Given the description of an element on the screen output the (x, y) to click on. 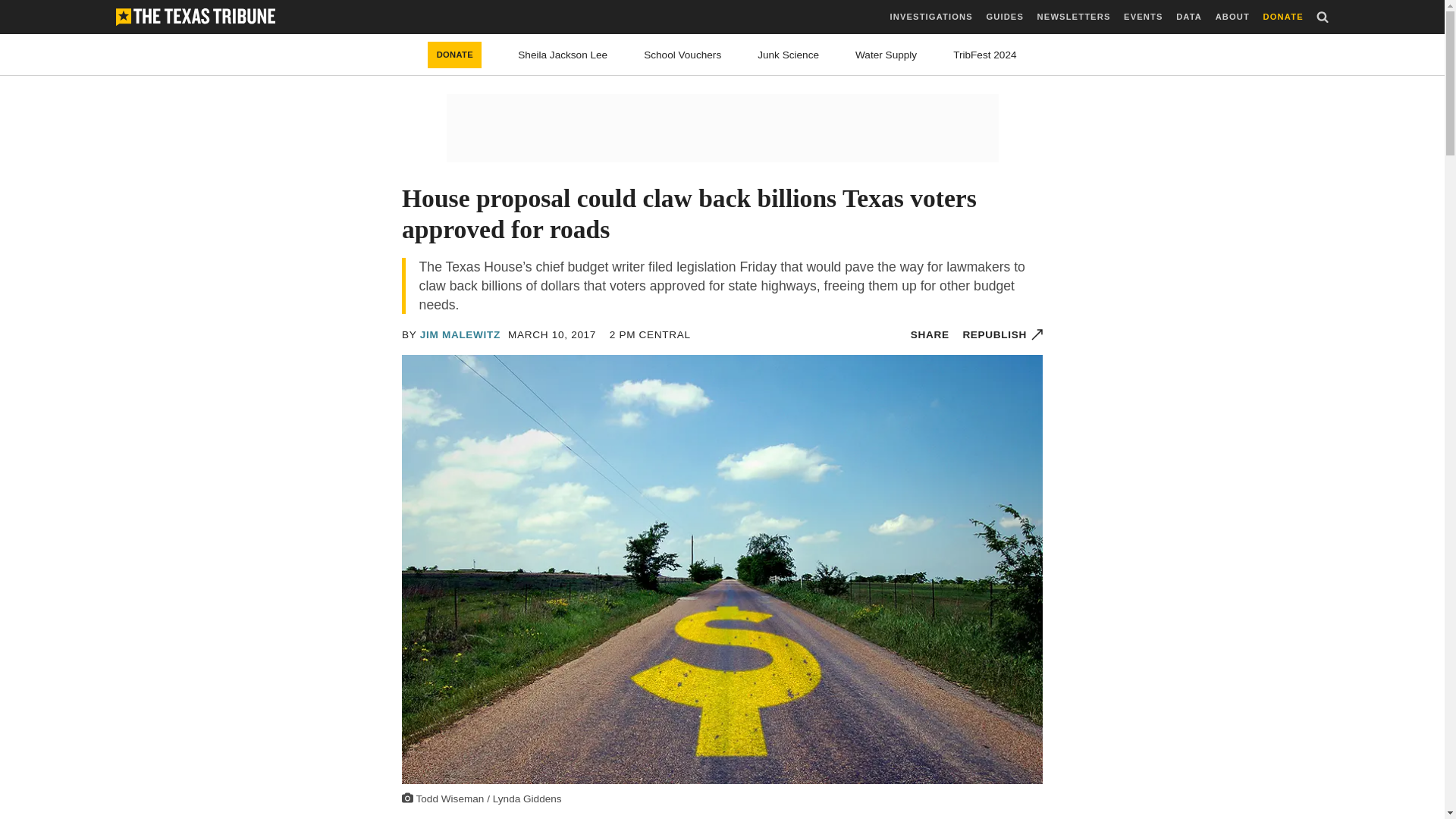
School Vouchers (681, 54)
Sheila Jackson Lee (562, 54)
GUIDES (1004, 17)
DONATE (454, 54)
2017-03-10 14:30 CST (551, 334)
JIM MALEWITZ (460, 334)
Water Supply (886, 54)
DONATE (1283, 17)
TribFest 2024 (984, 54)
REPUBLISH (1002, 334)
NEWSLETTERS (1073, 17)
INVESTIGATIONS (930, 17)
2017-03-10 14:30 CST (650, 334)
ABOUT (1232, 17)
EVENTS (1142, 17)
